Given the description of an element on the screen output the (x, y) to click on. 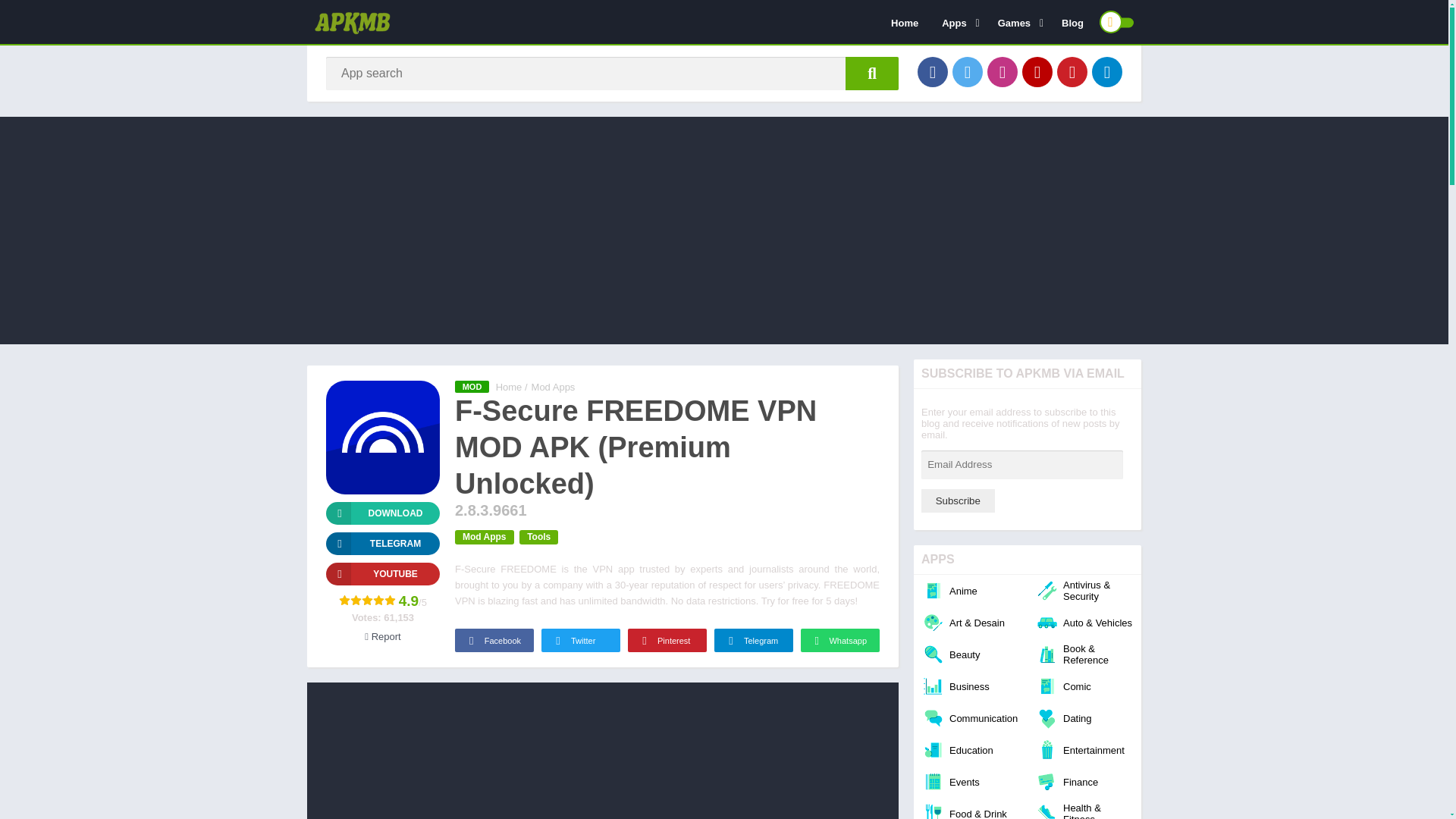
Telegram (1107, 71)
Pinterest (1072, 71)
APKMB.Com (509, 387)
YouTube (382, 573)
Instagram (1002, 71)
App search (871, 73)
YouTube (1037, 71)
Facebook (932, 71)
Telegram (382, 543)
DOWNLOAD (382, 513)
Twitter (967, 71)
